Given the description of an element on the screen output the (x, y) to click on. 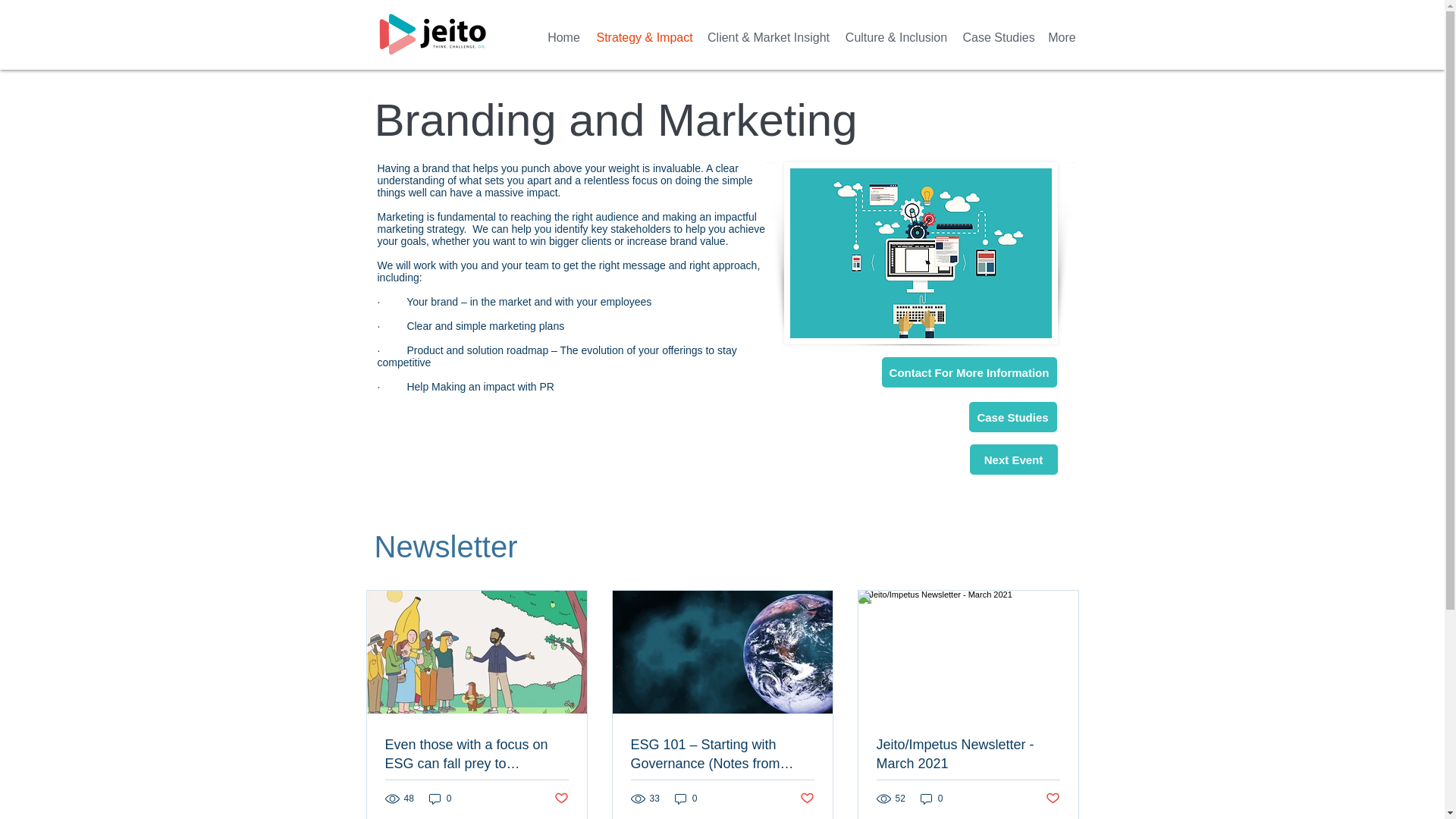
0 (931, 798)
Post not marked as liked (806, 798)
0 (685, 798)
Next Event (1013, 459)
0 (440, 798)
Contact For More Information (968, 372)
Case Studies (998, 36)
Jeito NEW LOGO.jpg (431, 32)
Home (563, 36)
